Given the description of an element on the screen output the (x, y) to click on. 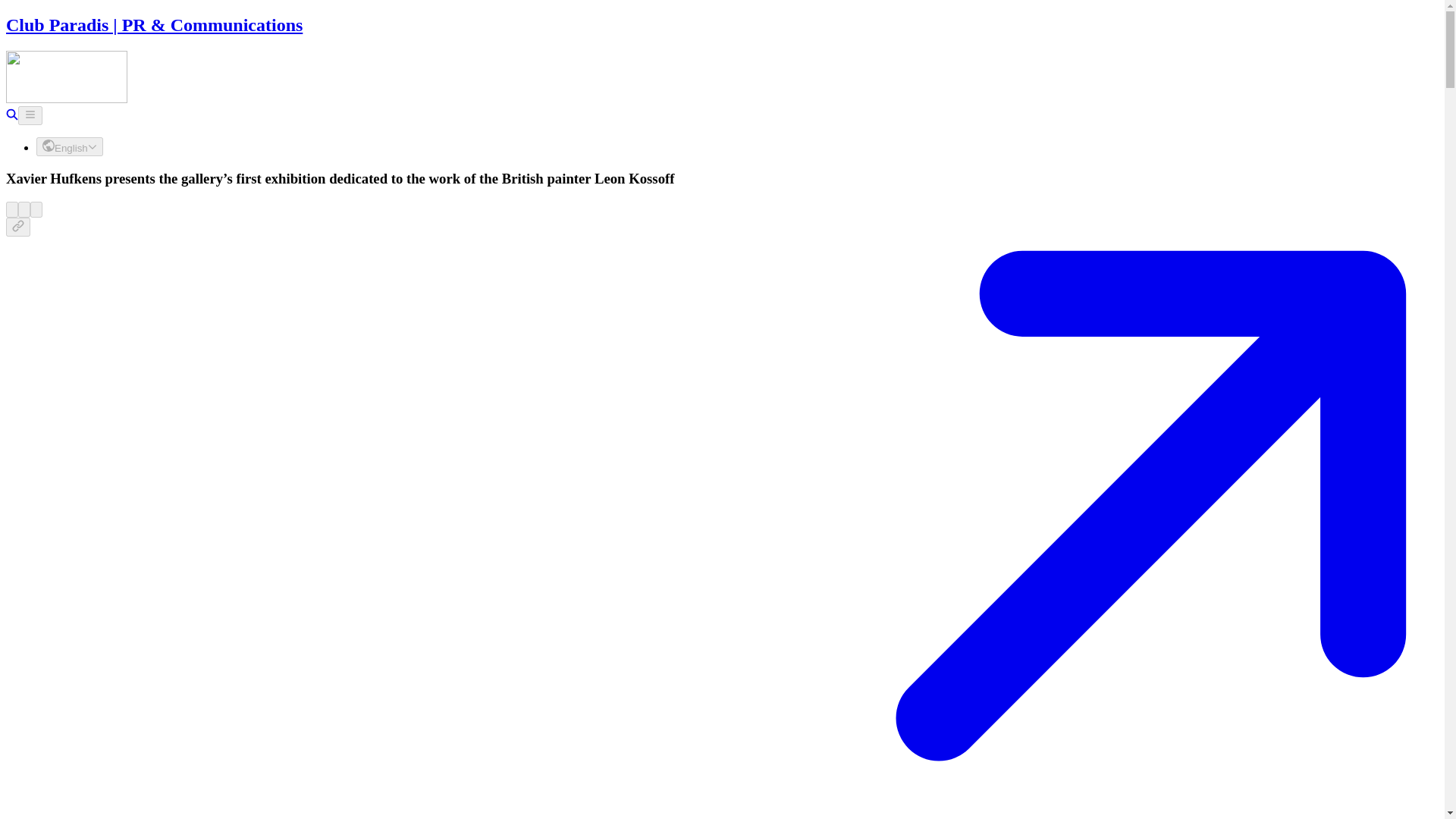
Toggle navigation (29, 115)
Search (11, 115)
English (69, 146)
Copy URL (17, 226)
